Given the description of an element on the screen output the (x, y) to click on. 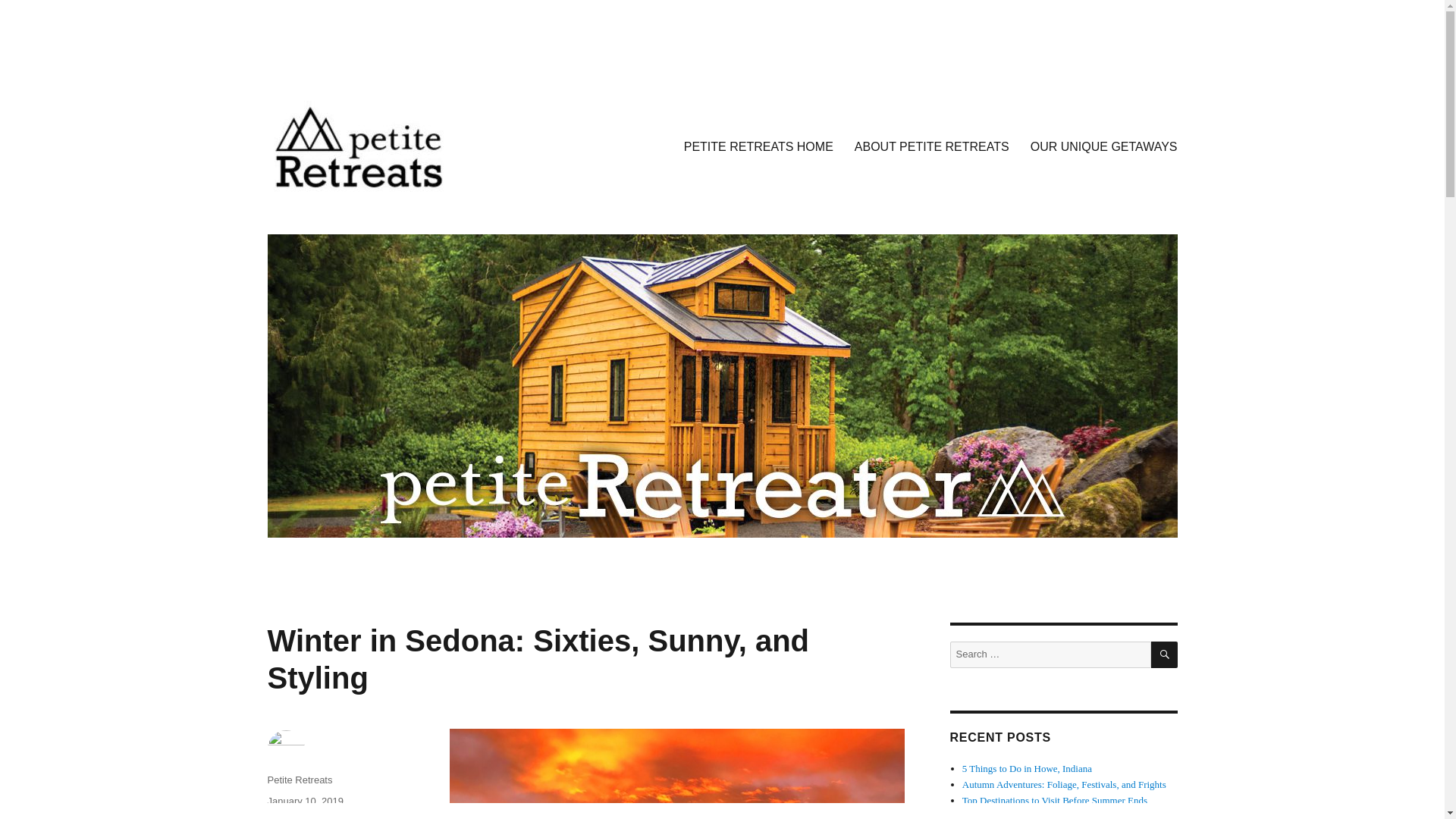
Local Events (294, 817)
ABOUT PETITE RETREATS (932, 146)
Things To Do (358, 817)
SEARCH (1164, 654)
Petite Retreater (344, 215)
Petite Retreats (298, 779)
Top Destinations to Visit Before Summer Ends (1054, 799)
OUR UNIQUE GETAWAYS (1104, 146)
Autumn Adventures: Foliage, Festivals, and Frights (1064, 784)
January 10, 2019 (304, 800)
